Given the description of an element on the screen output the (x, y) to click on. 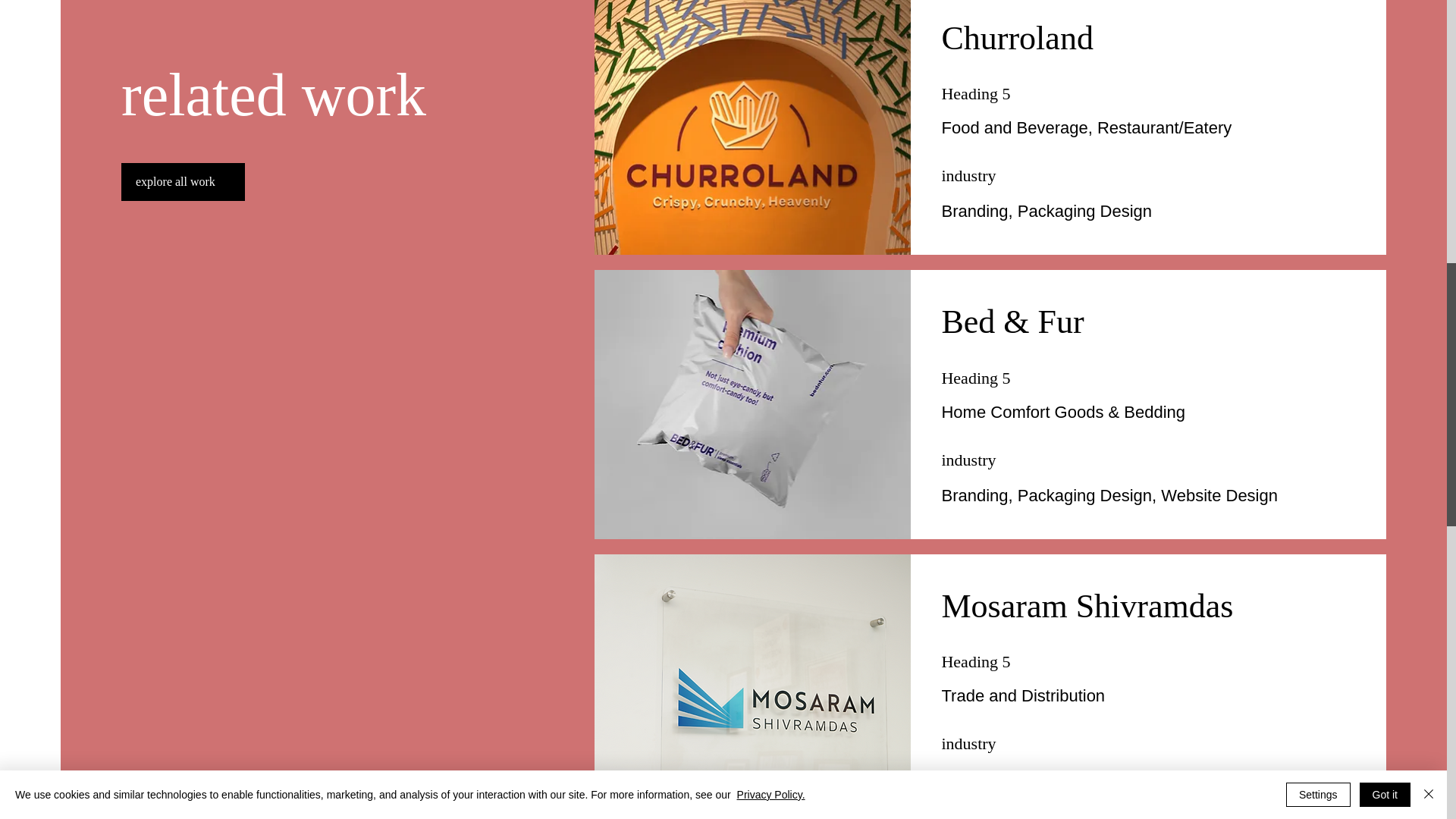
explore all work (182, 107)
